Given the description of an element on the screen output the (x, y) to click on. 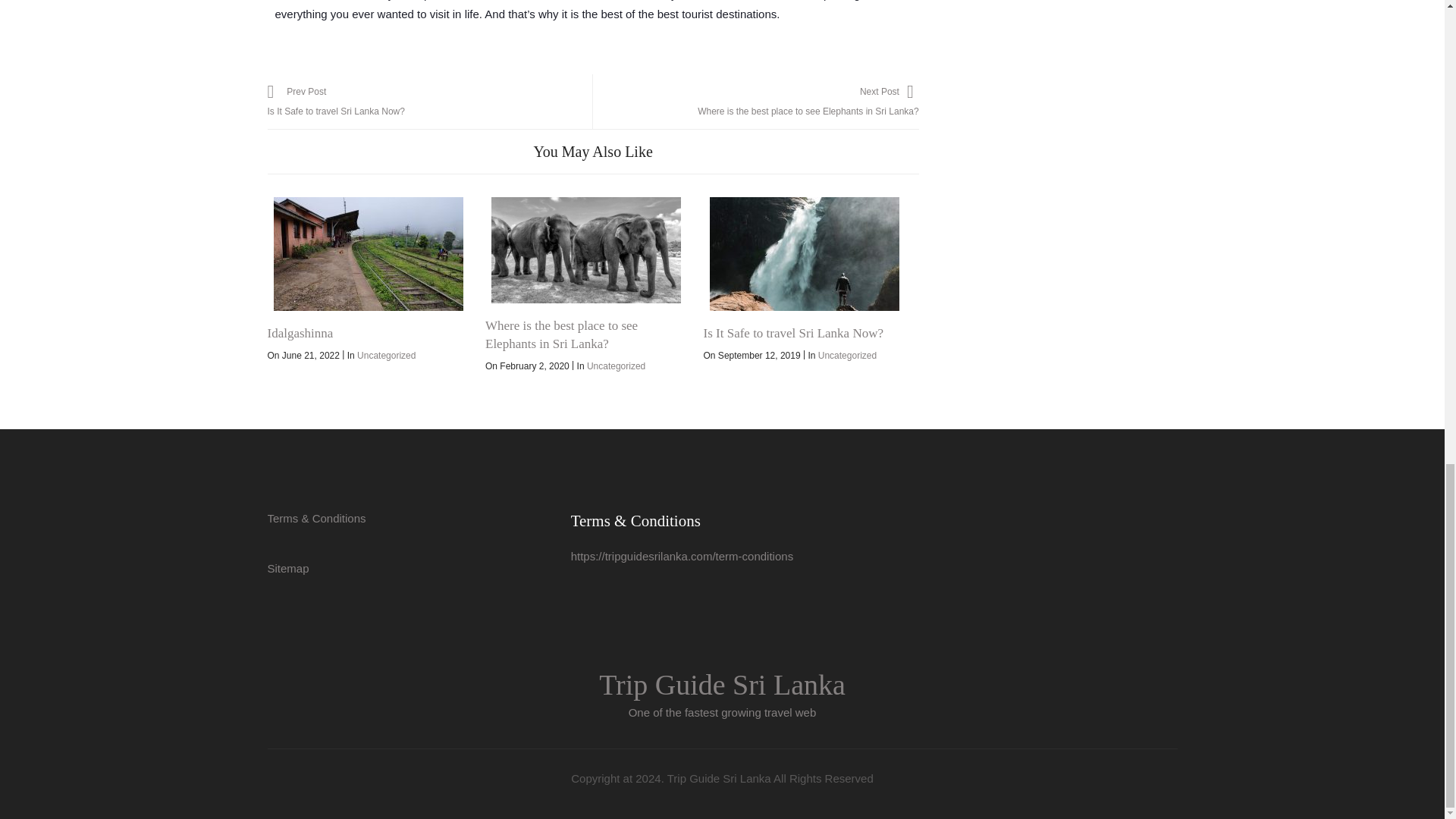
Is It Safe to travel Sri Lanka Now? (804, 254)
Idalgashinna (367, 254)
Where is the best place to see Elephants in Sri Lanka? (586, 250)
Trip Guide Sri Lanka (721, 685)
